Given the description of an element on the screen output the (x, y) to click on. 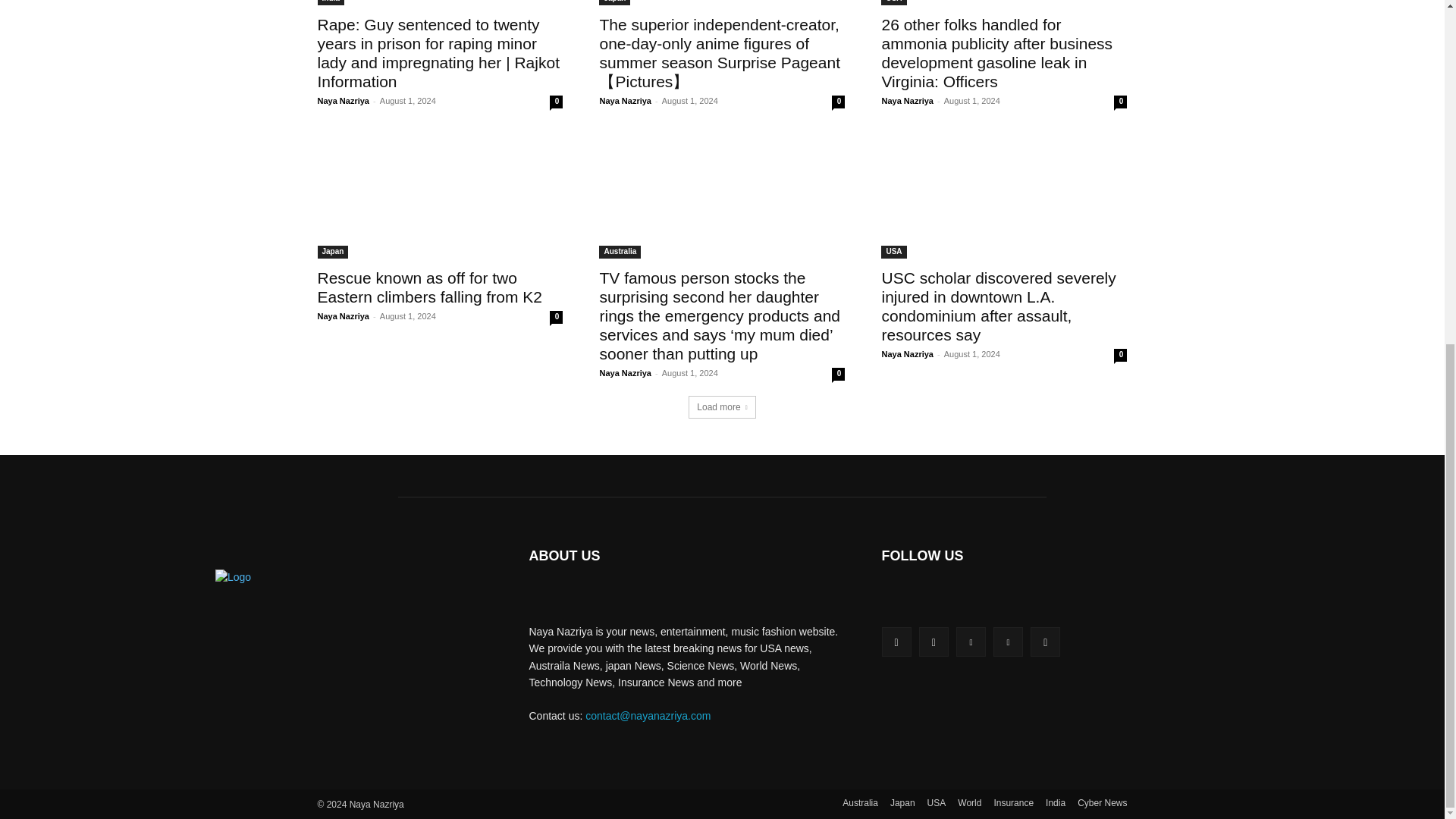
0 (837, 101)
Naya Nazriya (624, 100)
USA (892, 2)
Japan (614, 2)
0 (556, 101)
Naya Nazriya (343, 100)
Naya Nazriya (906, 100)
Japan (332, 251)
Rescue known as off for two Eastern climbers falling from K2 (429, 287)
India (330, 2)
0 (1119, 101)
Rescue known as off for two Eastern climbers falling from K2 (439, 196)
